Given the description of an element on the screen output the (x, y) to click on. 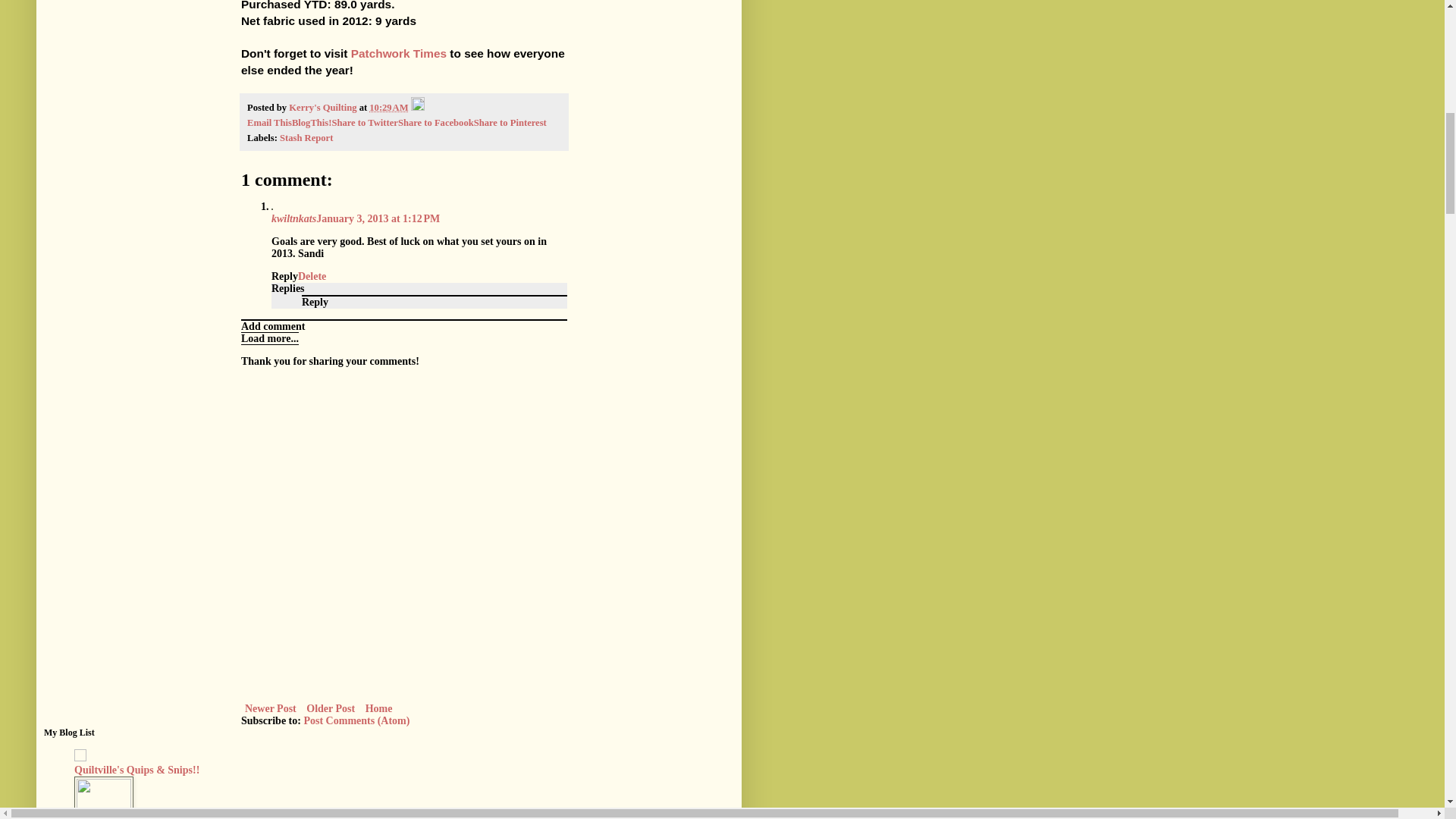
Share to Facebook (435, 122)
Older Post (330, 708)
Share to Pinterest (510, 122)
Replies (287, 287)
kwiltnkats (292, 217)
Add comment (272, 325)
Share to Pinterest (510, 122)
BlogThis! (311, 122)
Delete (312, 275)
Newer Post (270, 708)
permanent link (388, 107)
Share to Twitter (364, 122)
BlogThis! (311, 122)
Email This (269, 122)
